Given the description of an element on the screen output the (x, y) to click on. 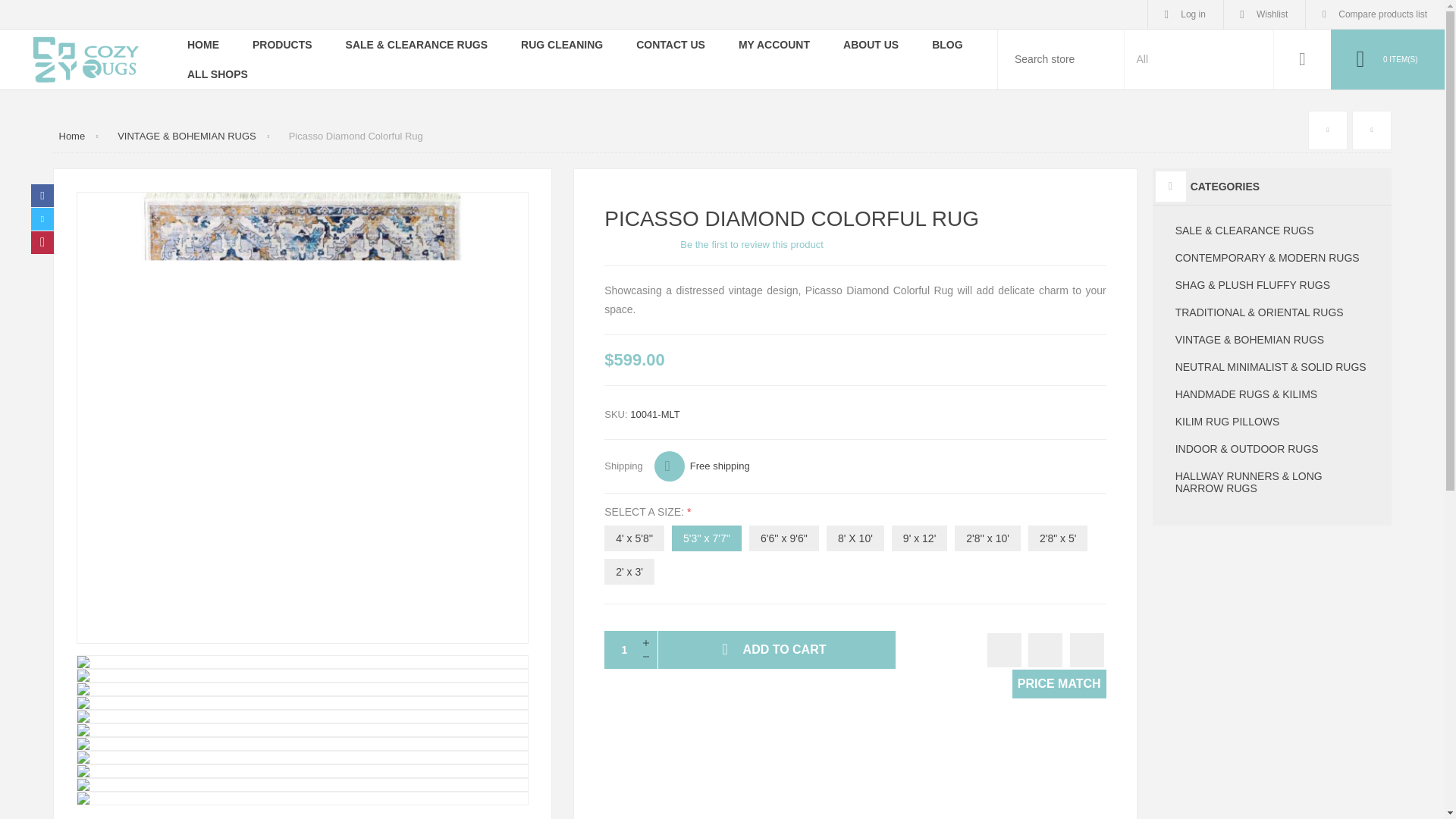
ALL SHOPS (217, 72)
Wishlist (1264, 14)
Home (202, 44)
ABOUT US (871, 44)
BLOG (946, 44)
MY ACCOUNT (774, 44)
HOME (202, 44)
RUG CLEANING (561, 44)
Contact Us (671, 44)
My Account (774, 44)
